Given the description of an element on the screen output the (x, y) to click on. 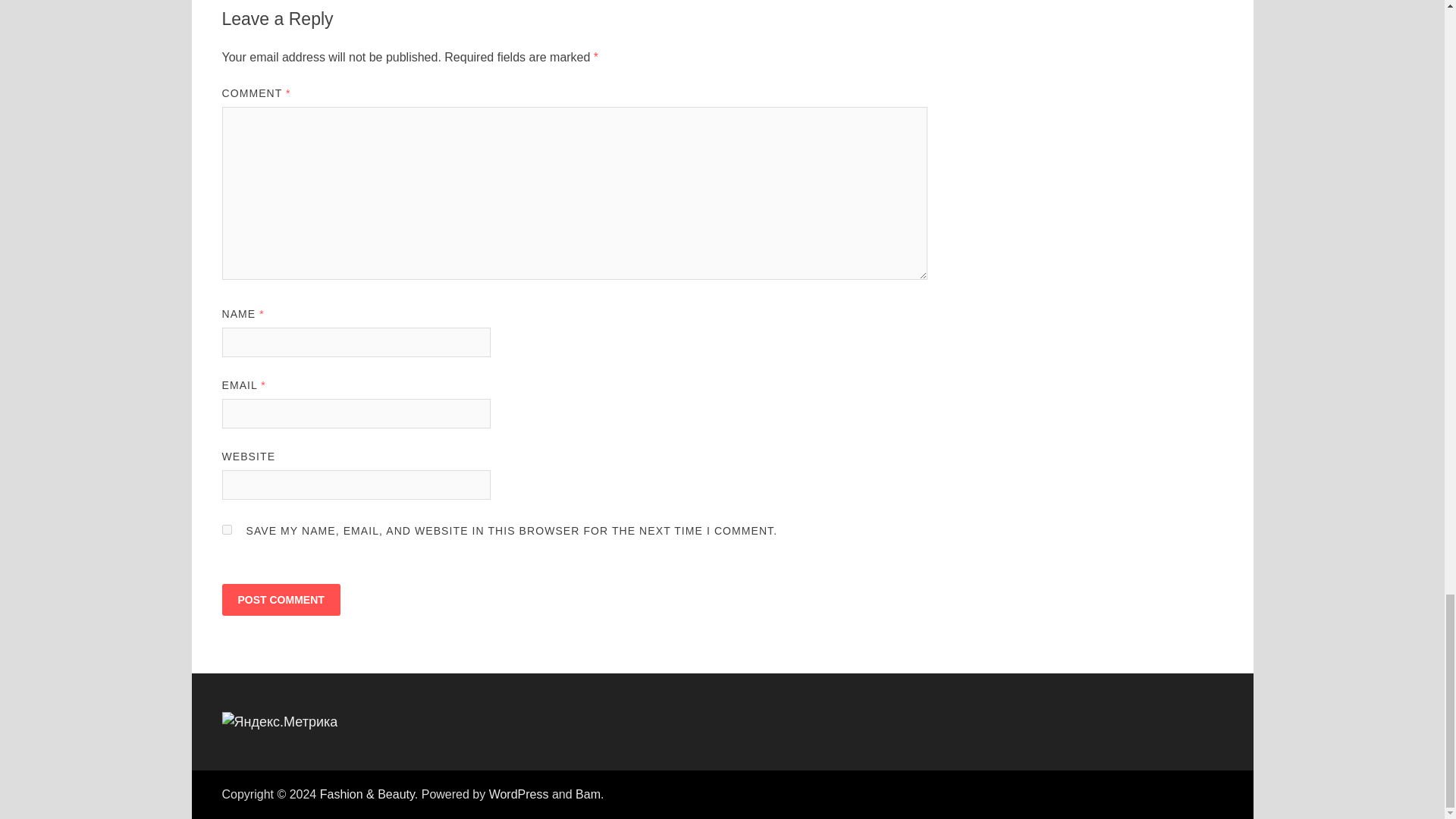
Bam (587, 793)
Post Comment (280, 599)
yes (226, 529)
WordPress (518, 793)
Post Comment (280, 599)
